Given the description of an element on the screen output the (x, y) to click on. 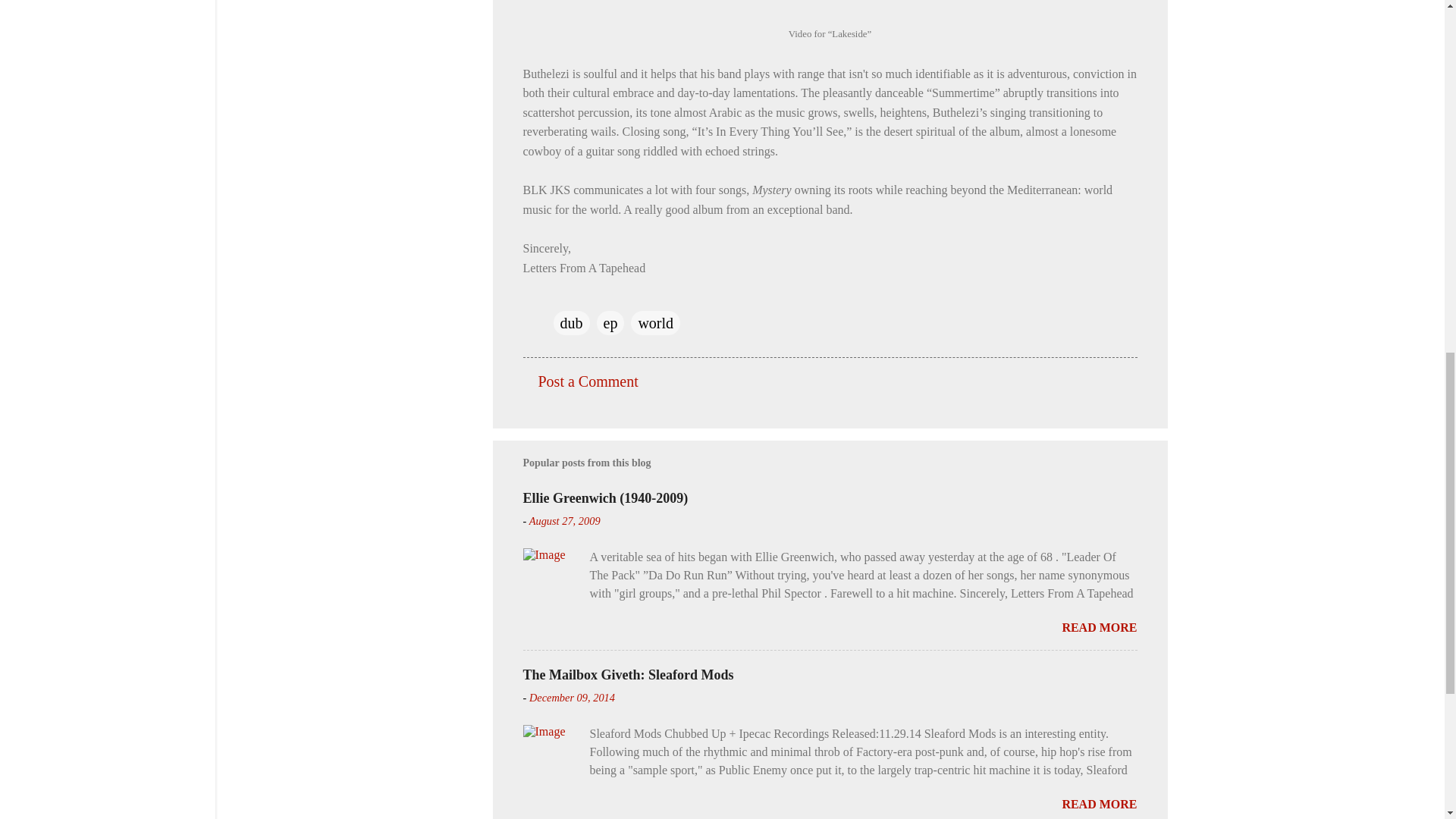
August 27, 2009 (564, 521)
ep (609, 322)
READ MORE (1099, 803)
READ MORE (1099, 626)
world (654, 322)
dub (571, 322)
The Mailbox Giveth: Sleaford Mods (627, 674)
permanent link (564, 521)
Post a Comment (588, 381)
December 09, 2014 (571, 697)
